Given the description of an element on the screen output the (x, y) to click on. 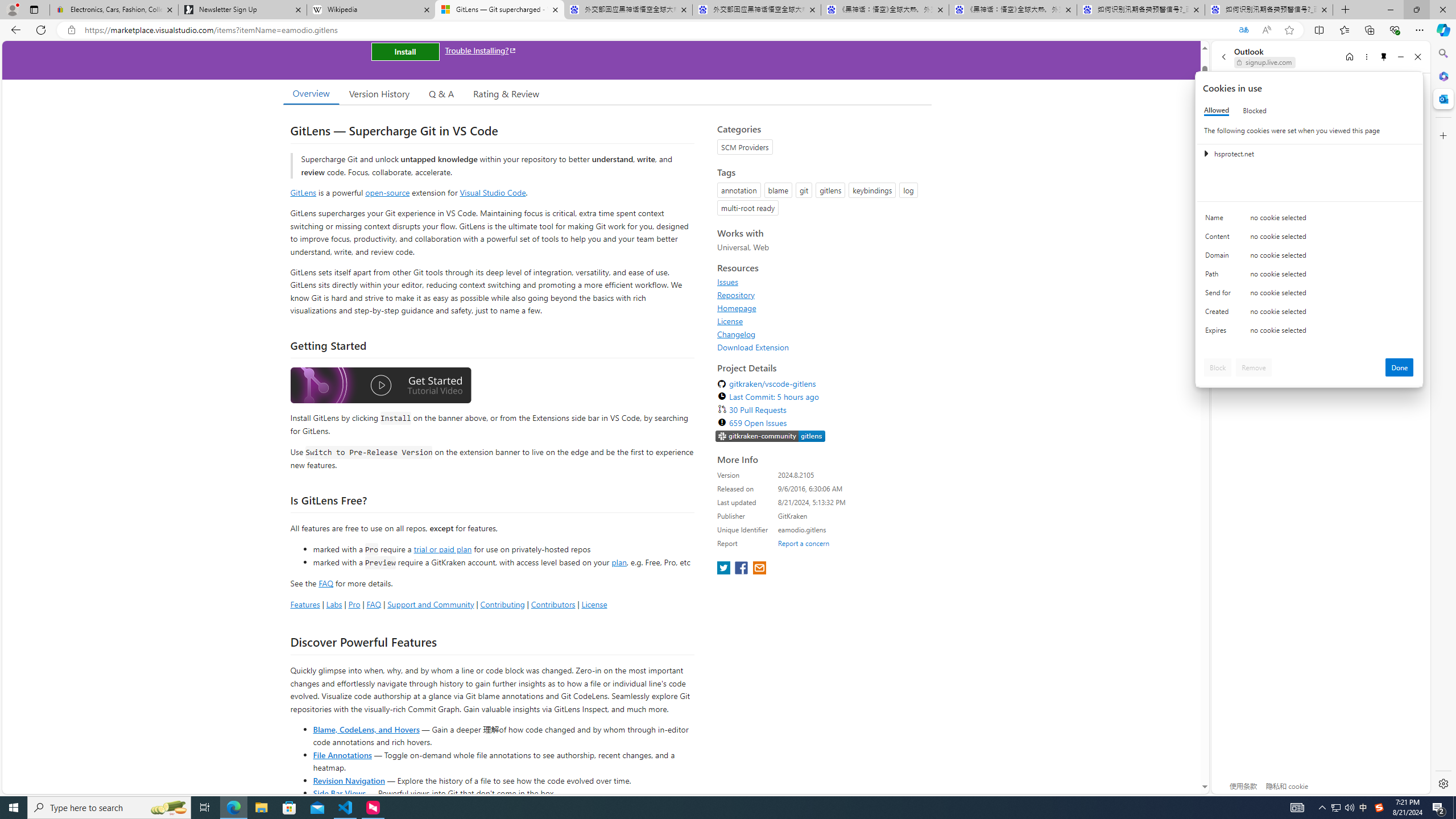
Class: c0153 c0157 c0154 (1309, 220)
Send for (1219, 295)
Blocked (1255, 110)
Done (1399, 367)
Content (1219, 239)
no cookie selected (1331, 332)
Expires (1219, 332)
Name (1219, 220)
Allowed (1216, 110)
Domain (1219, 257)
Block (1217, 367)
Remove (1253, 367)
Created (1219, 313)
Class: c0153 c0157 (1309, 332)
Path (1219, 276)
